Given the description of an element on the screen output the (x, y) to click on. 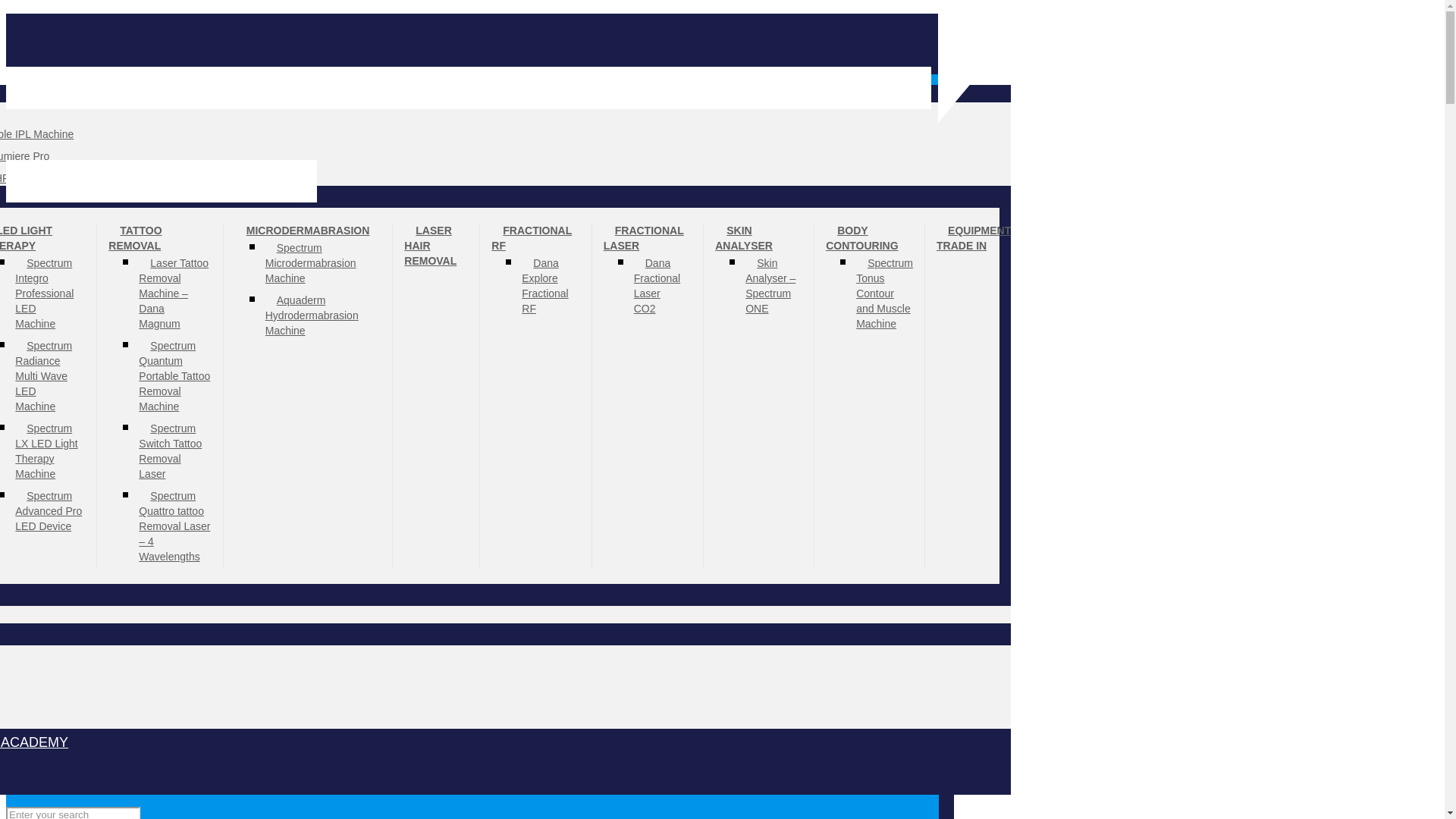
EQUIPMENT TRADE IN (973, 237)
BODY CONTOURING (866, 237)
FRACTIONAL RF (532, 237)
Spectrum Esteem IPL SHR Machines (29, 177)
Spectrum Giovane Portable IPL Machine (37, 133)
Aquaderm Hydrodermabrasion Machine (311, 315)
LASER HAIR REMOVAL (435, 245)
MICRODERMABRASION (307, 230)
LED LIGHT THERAPY (26, 237)
SKIN ANALYSER (749, 237)
